Given the description of an element on the screen output the (x, y) to click on. 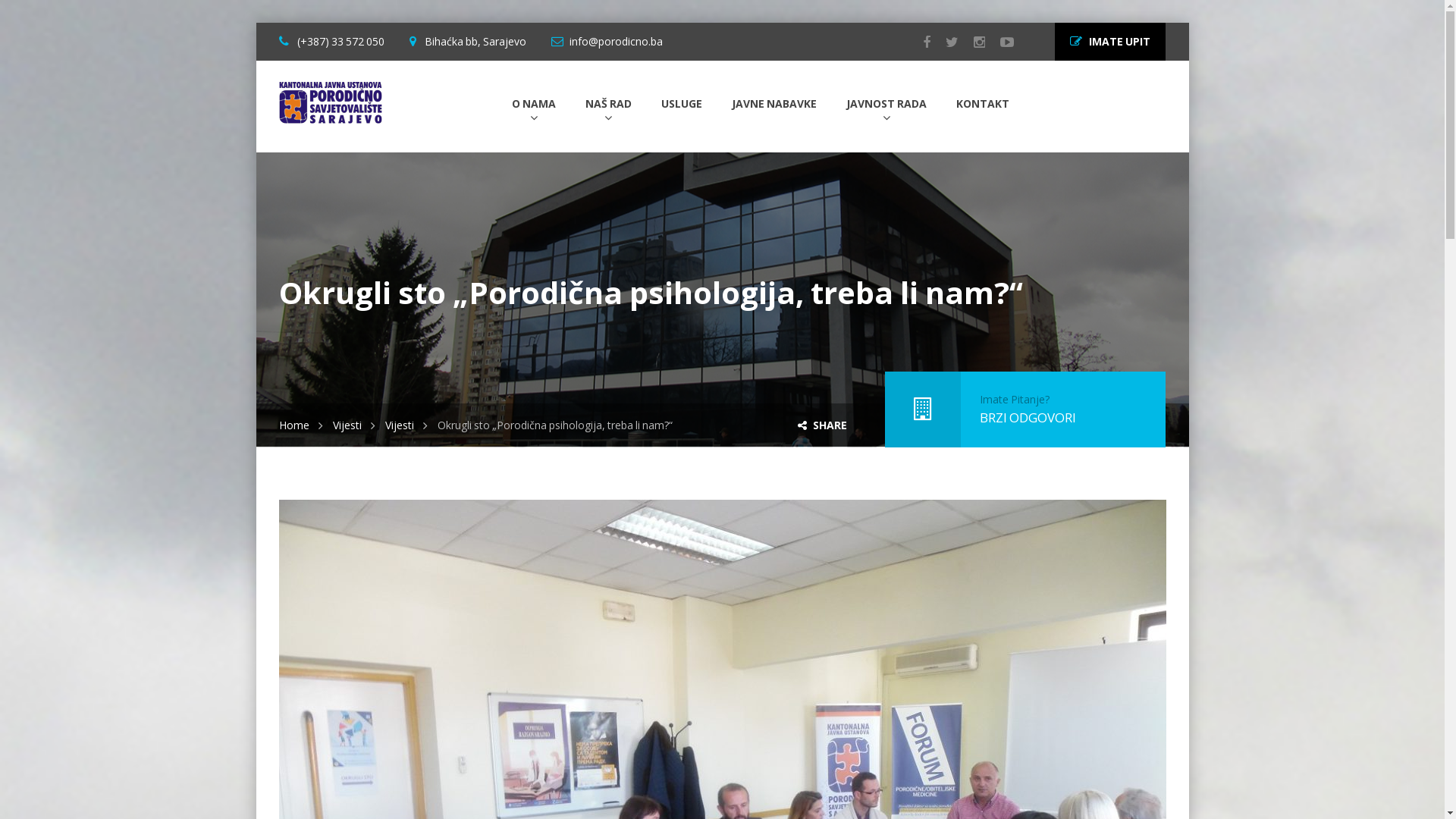
info@porodicno.ba Element type: text (615, 41)
JAVNOST RADA Element type: text (886, 104)
O NAMA Element type: text (533, 104)
(+387) 33 572 050 Element type: text (338, 41)
Instagram Element type: text (971, 42)
IMATE UPIT Element type: text (1109, 41)
Home Element type: text (301, 424)
Vijesti Element type: text (353, 424)
USLUGE Element type: text (681, 104)
JAVNE NABAVKE Element type: text (773, 104)
Vijesti Element type: text (406, 424)
Twitter Element type: text (944, 42)
KONTAKT Element type: text (981, 104)
Youtube Element type: text (999, 42)
Search Element type: text (37, 18)
Facebook Element type: text (918, 42)
